Given the description of an element on the screen output the (x, y) to click on. 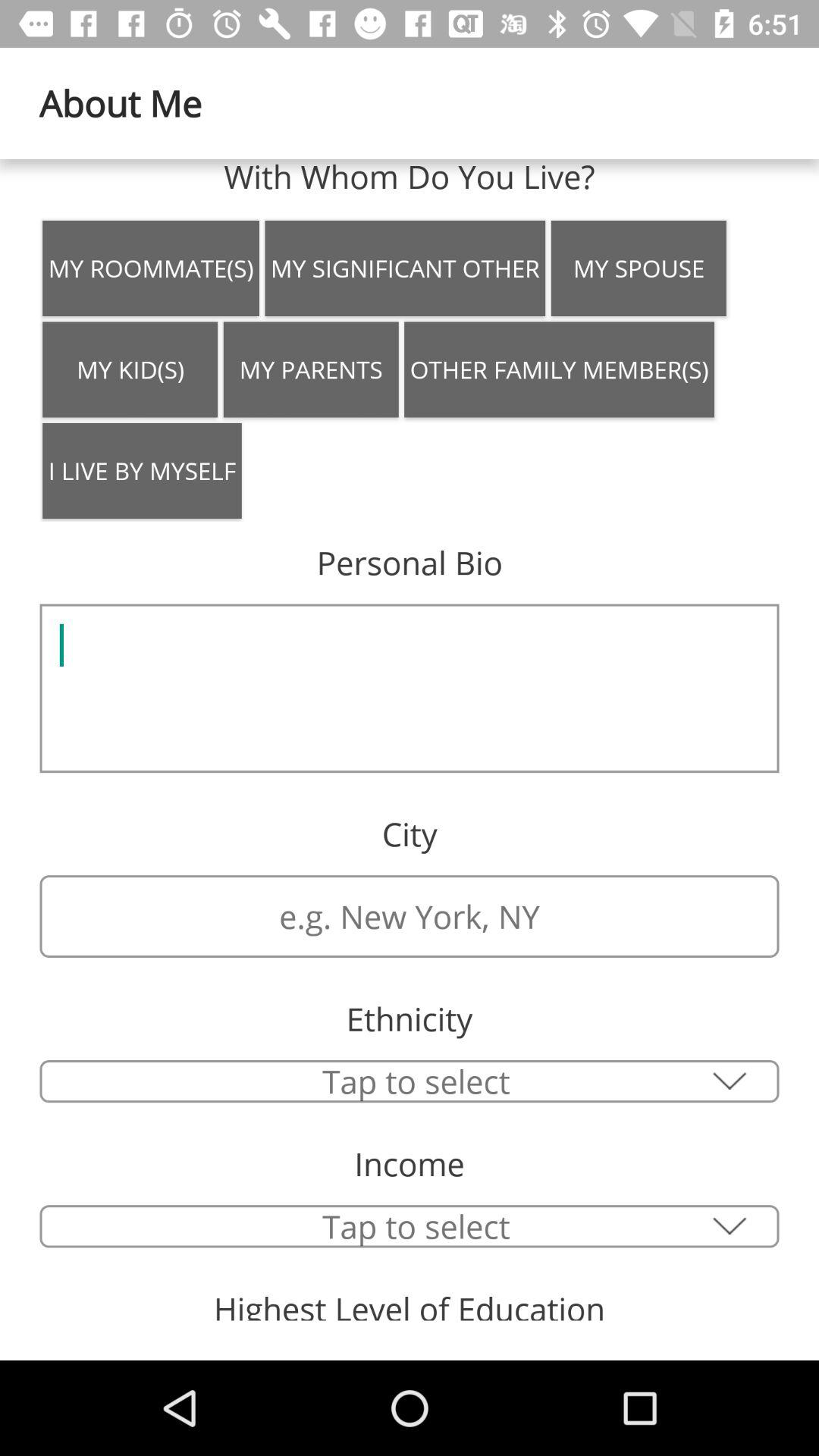
swipe to my spouse icon (638, 268)
